Given the description of an element on the screen output the (x, y) to click on. 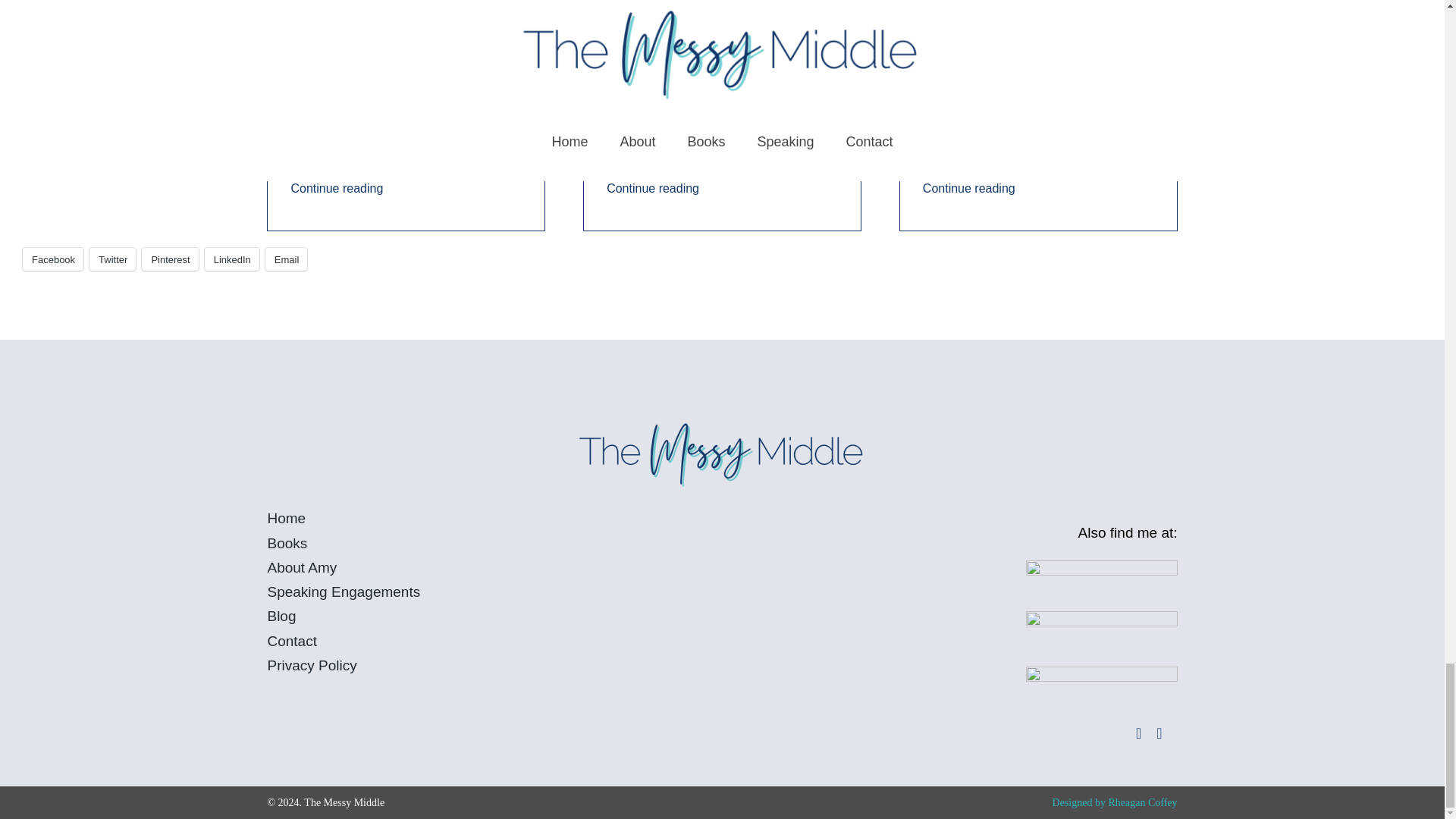
Click to share on Pinterest (169, 259)
Click to email a link to a friend (285, 259)
Click to share on Twitter (111, 259)
Summer Reading Challenge (697, 100)
Summer Reading Challenge (1053, 100)
Summer Reading Challenge (380, 100)
Click to share on LinkedIn (232, 259)
Click to share on Facebook (52, 259)
Book (939, 100)
